Given the description of an element on the screen output the (x, y) to click on. 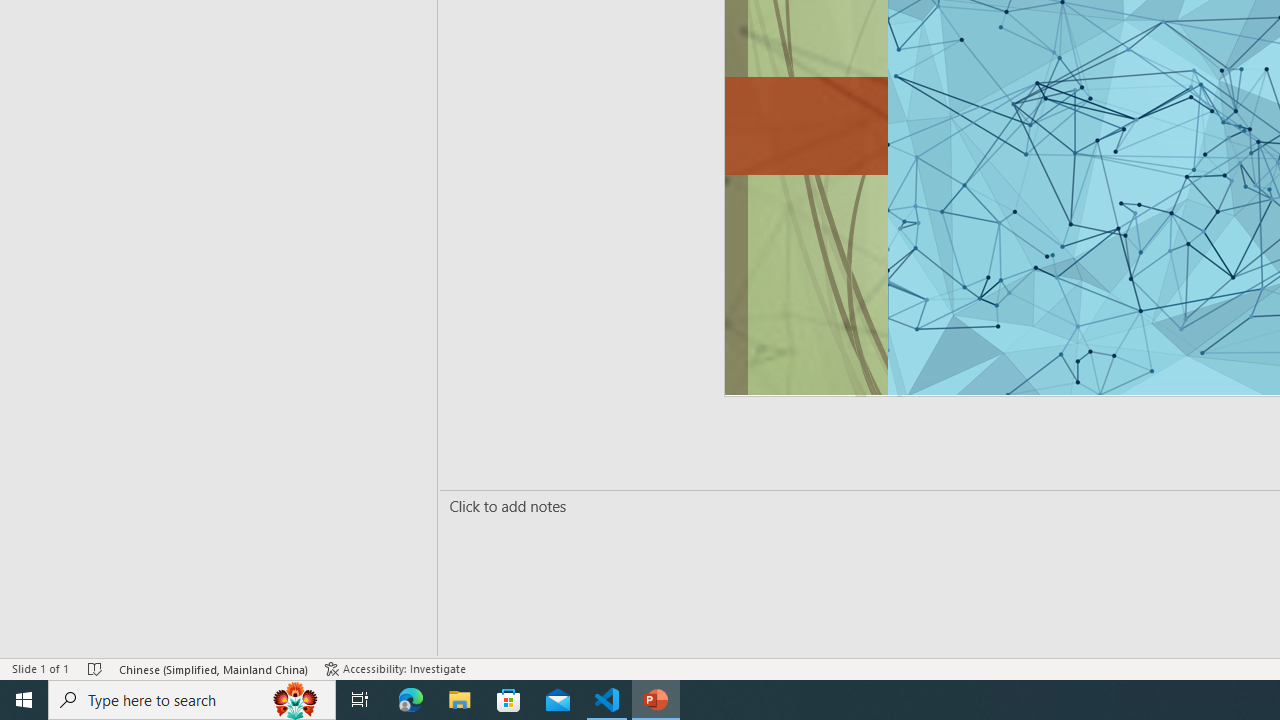
Accessibility Checker Accessibility: Investigate (397, 668)
Type here to search (191, 699)
Search highlights icon opens search home window (295, 699)
Start (24, 699)
Visual Studio Code - 1 running window (607, 699)
File Explorer (460, 699)
Microsoft Store (509, 699)
PowerPoint - 1 running window (656, 699)
Task View (359, 699)
Microsoft Edge (411, 699)
Spell Check No Errors (95, 668)
